Given the description of an element on the screen output the (x, y) to click on. 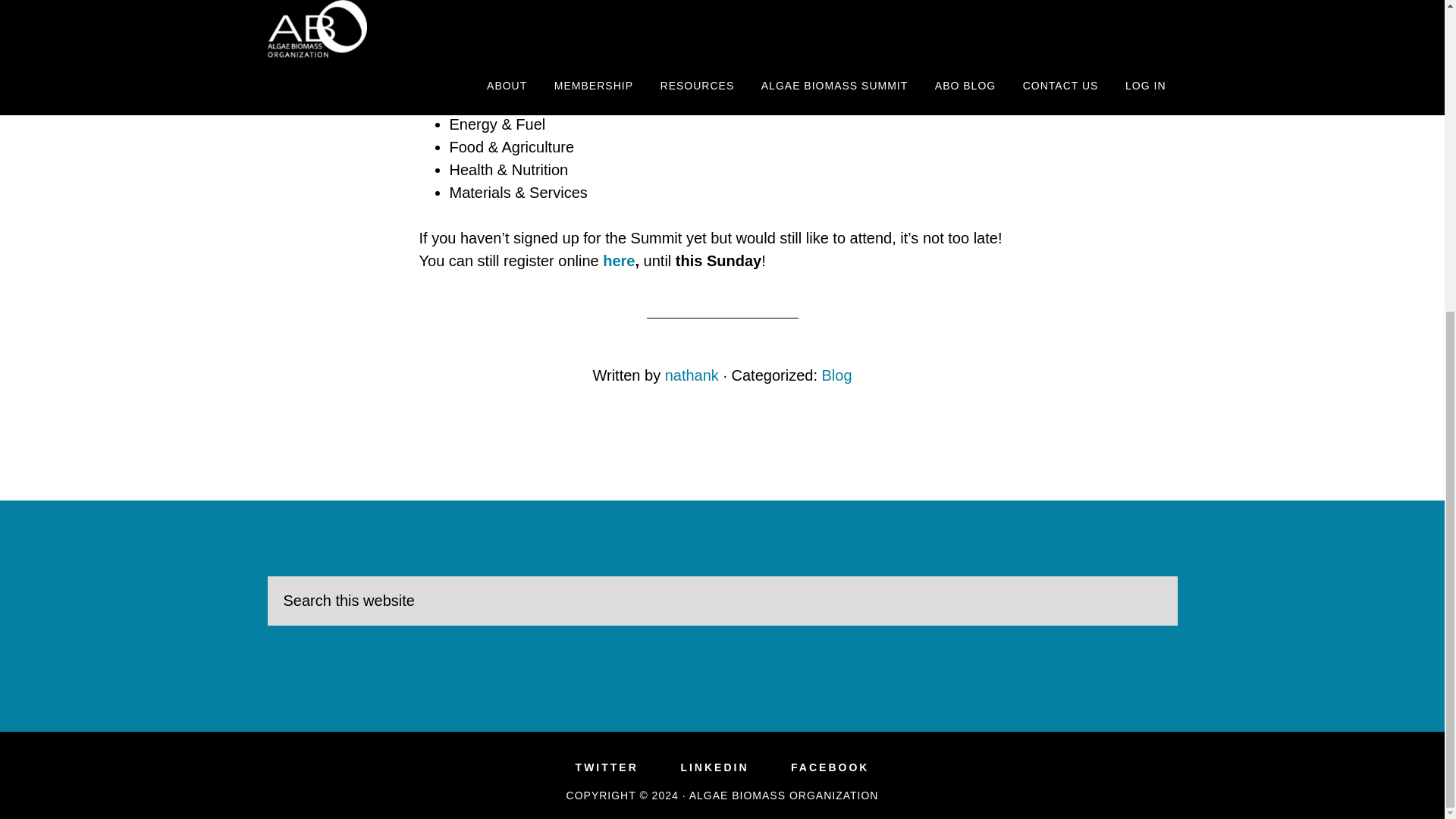
Blog (836, 375)
LINKEDIN (714, 766)
FACEBOOK (829, 766)
here (618, 260)
nathank (692, 375)
TWITTER (607, 766)
